Given the description of an element on the screen output the (x, y) to click on. 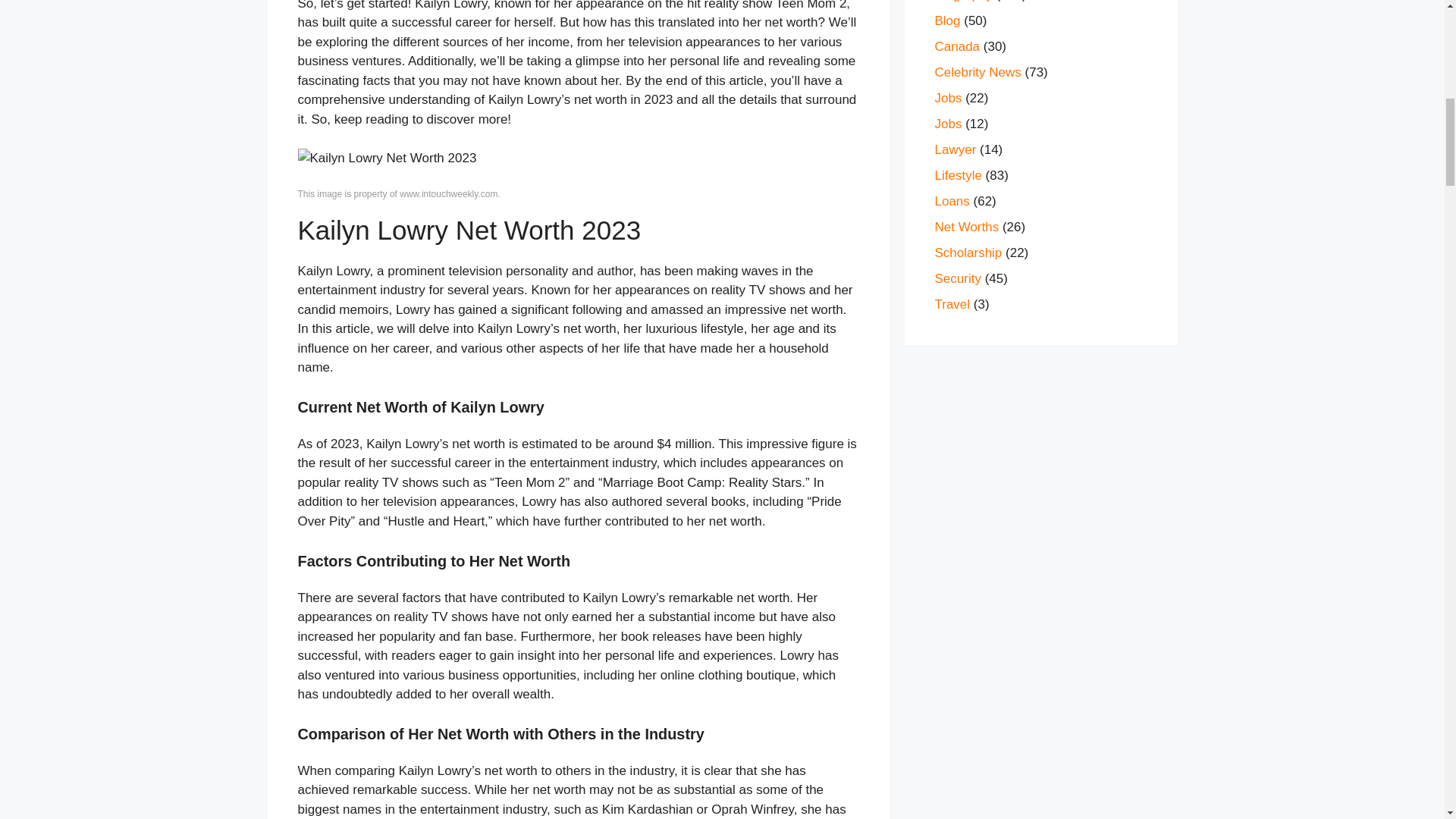
Jobs (947, 124)
Loans (951, 201)
Jobs (947, 97)
Scholarship (967, 252)
Blog (946, 20)
Net Worths (966, 227)
Celebrity News (977, 72)
Lawyer (954, 149)
Kailyn Lowry Net Worth 2023 (386, 158)
Lifestyle (957, 175)
